Given the description of an element on the screen output the (x, y) to click on. 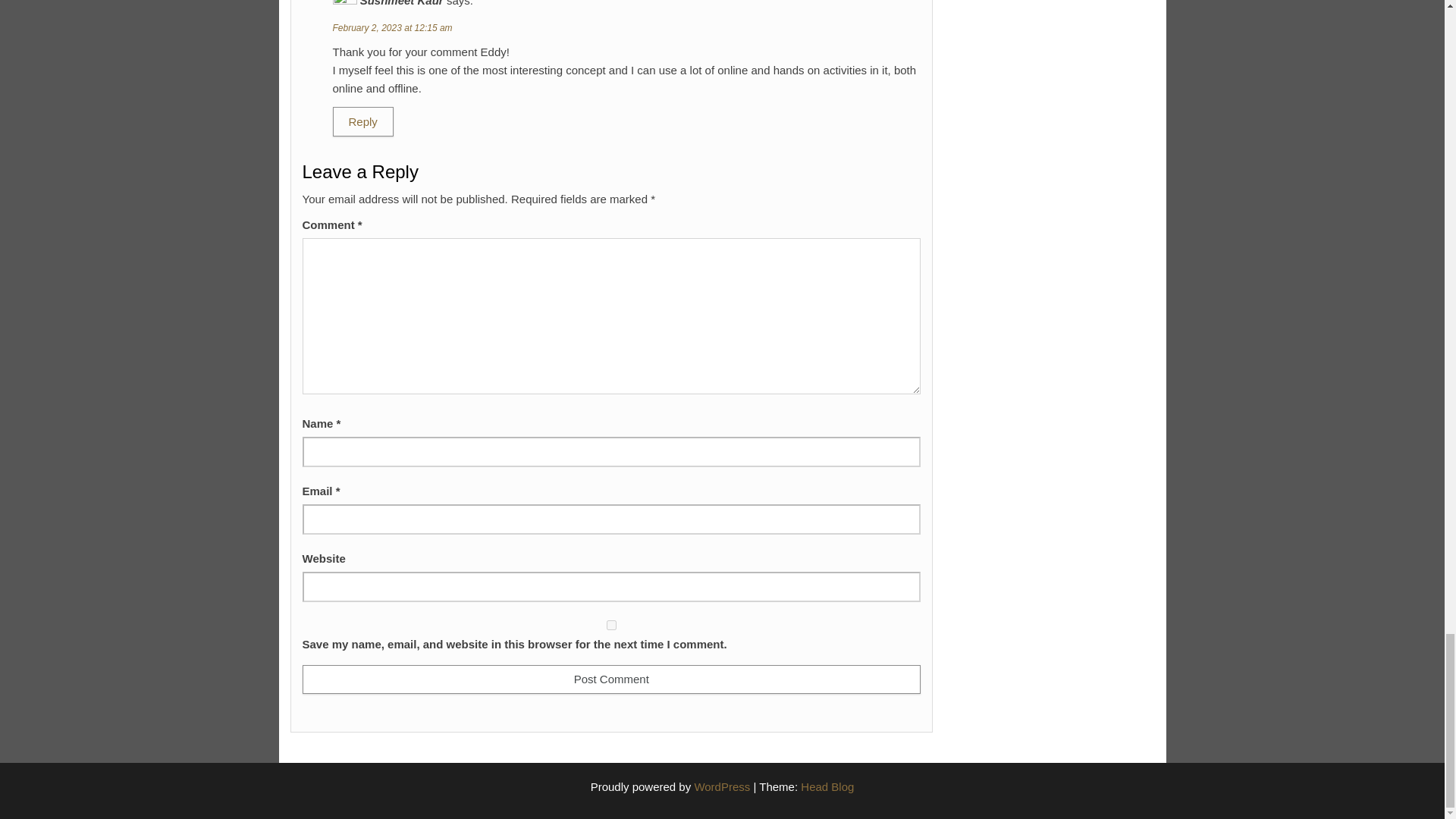
Post Comment (610, 679)
February 2, 2023 at 12:15 am (391, 27)
Post Comment (610, 679)
Reply (362, 121)
yes (610, 624)
